Given the description of an element on the screen output the (x, y) to click on. 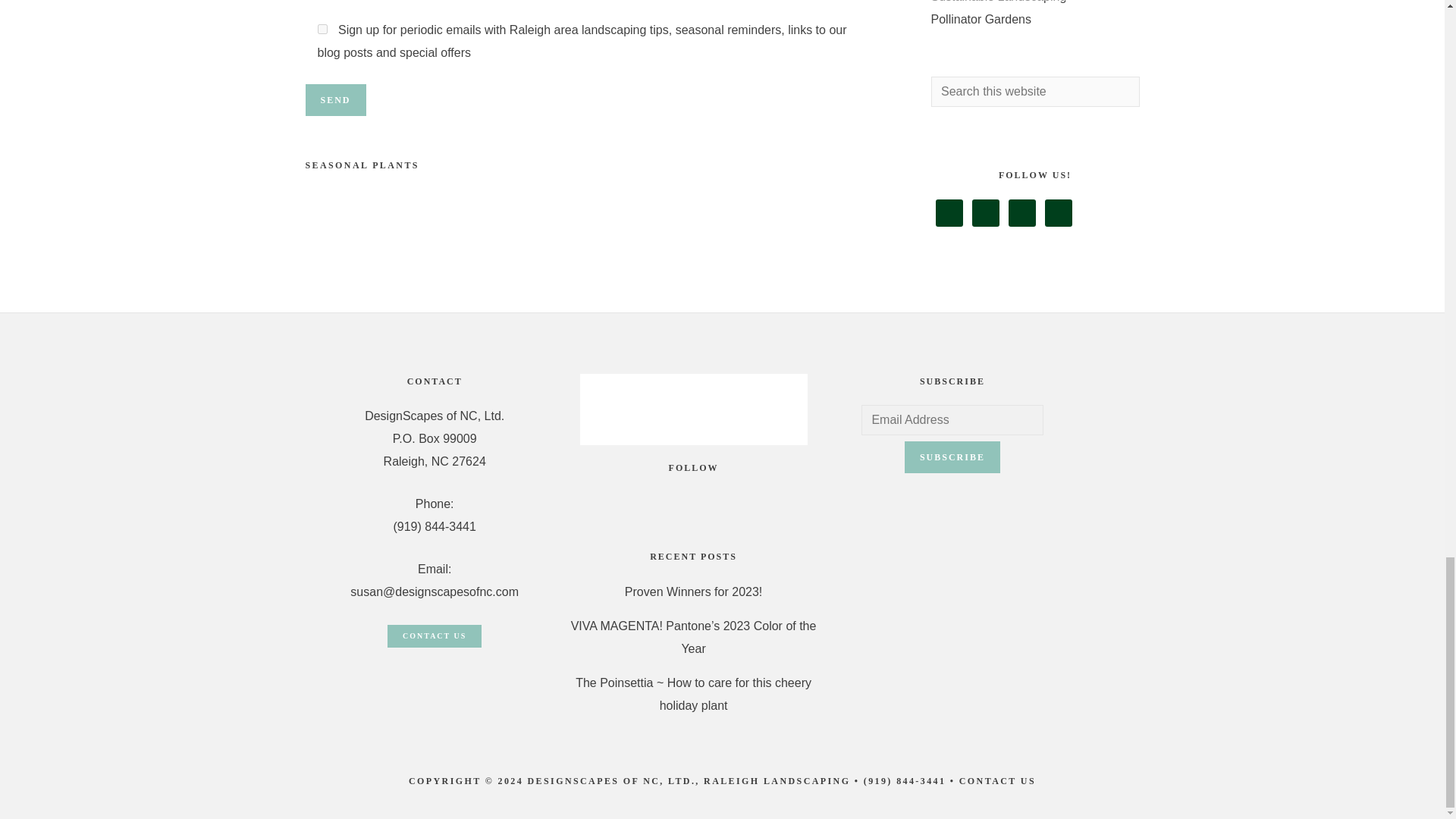
Subscribe (952, 457)
Send (334, 100)
SEASONAL PLANTS (361, 164)
Send (334, 100)
